Given the description of an element on the screen output the (x, y) to click on. 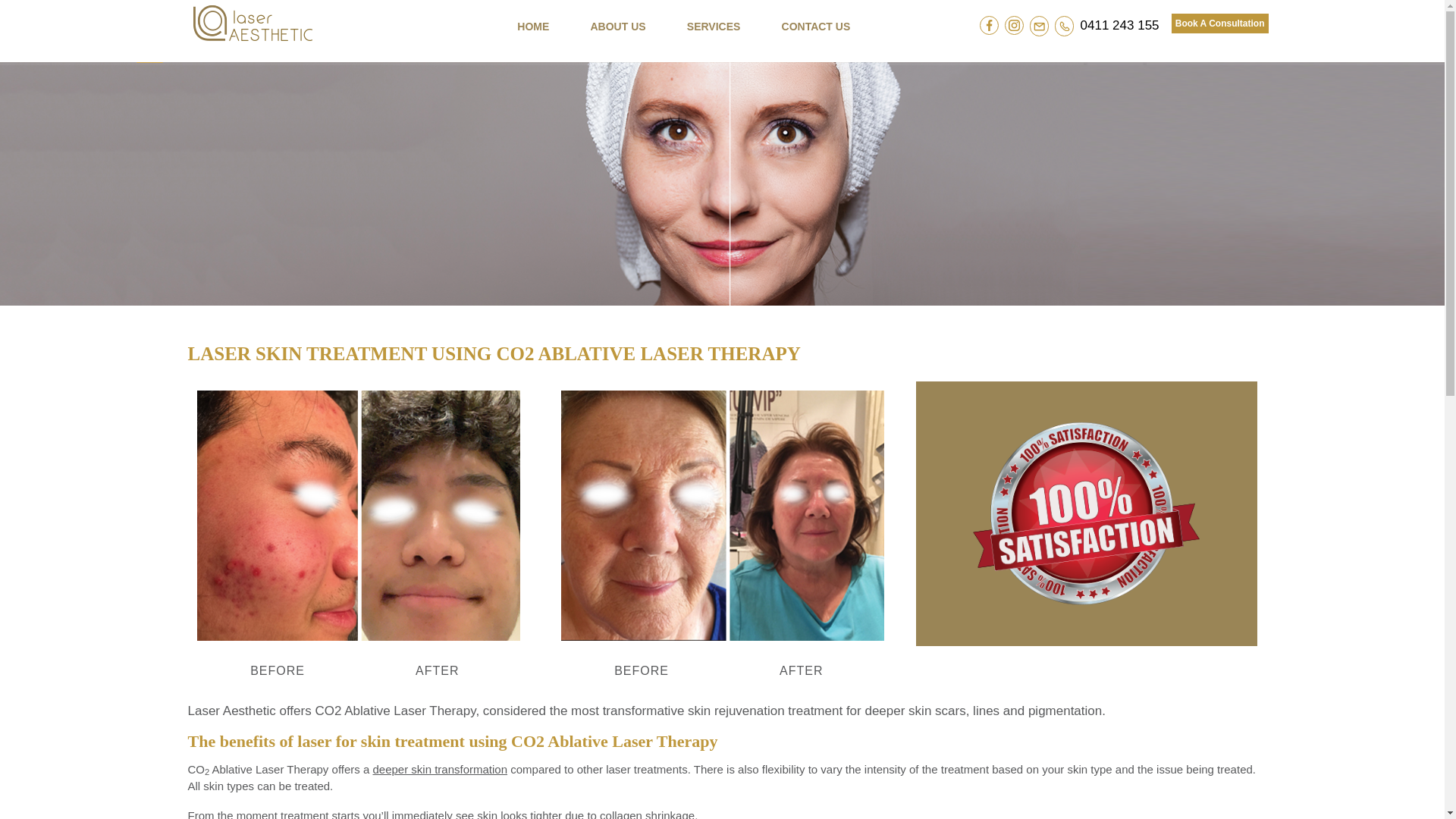
0411 243 155 Element type: text (1119, 25)
inner-log Element type: hover (252, 21)
ABOUT US Element type: text (617, 26)
HOME Element type: text (533, 26)
Book A Consultation Element type: text (1219, 23)
CONTACT US Element type: text (815, 26)
SERVICES Element type: text (713, 26)
